Given the description of an element on the screen output the (x, y) to click on. 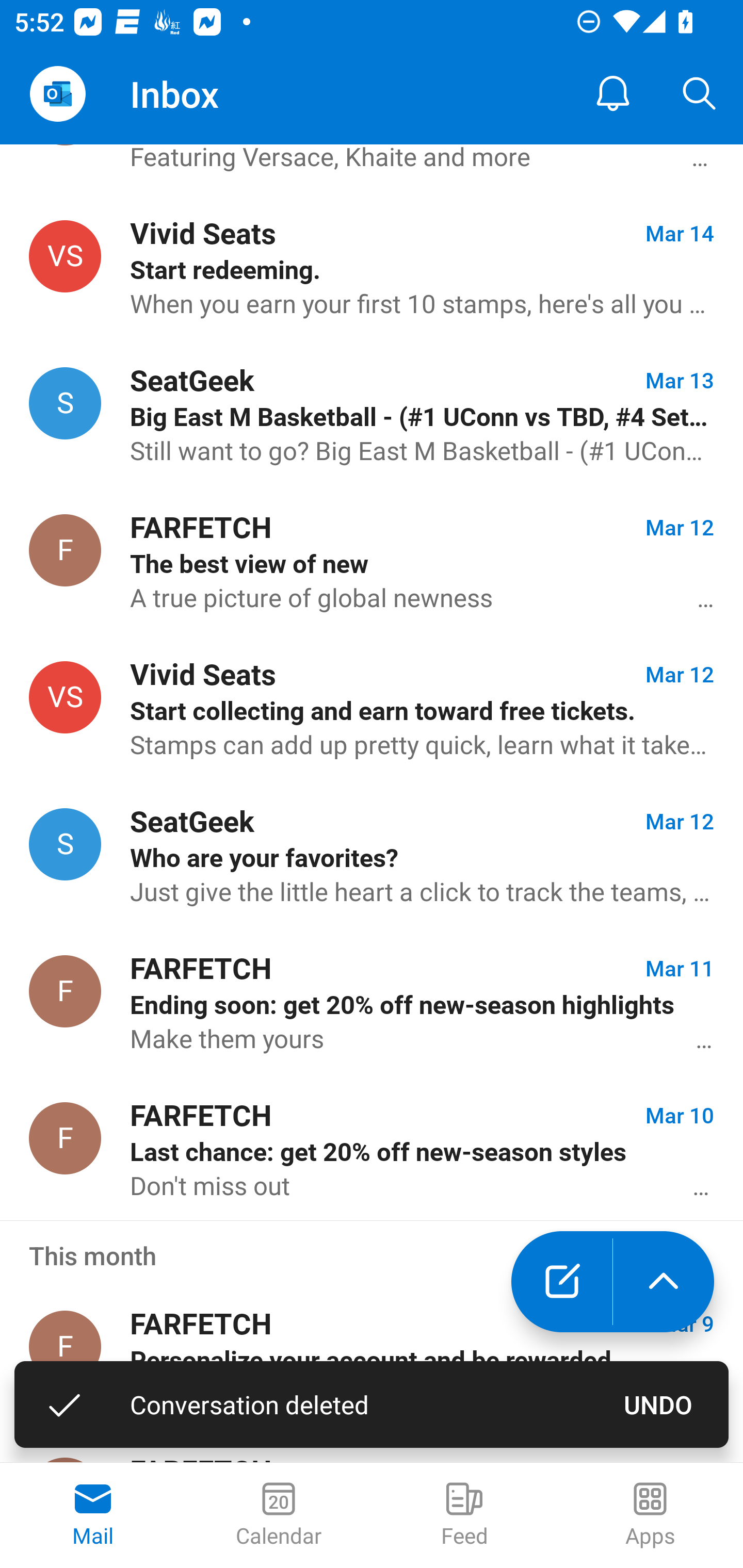
Notification Center (612, 93)
Search, ,  (699, 93)
Open Navigation Drawer (57, 94)
Vivid Seats, tickets@live.vividseats.com (64, 256)
SeatGeek, events@seatgeek.com (64, 402)
FARFETCH, farfetch@email.farfetch.com (64, 550)
Vivid Seats, tickets@live.vividseats.com (64, 697)
SeatGeek, events@seatgeek.com (64, 844)
FARFETCH, farfetch@email.farfetch.com (64, 990)
FARFETCH, farfetch@email.farfetch.com (64, 1138)
New mail (561, 1281)
launch the extended action menu (663, 1281)
FARFETCH, farfetch@email.farfetch.com (64, 1346)
UNDO (658, 1404)
Calendar (278, 1515)
Feed (464, 1515)
Apps (650, 1515)
